Given the description of an element on the screen output the (x, y) to click on. 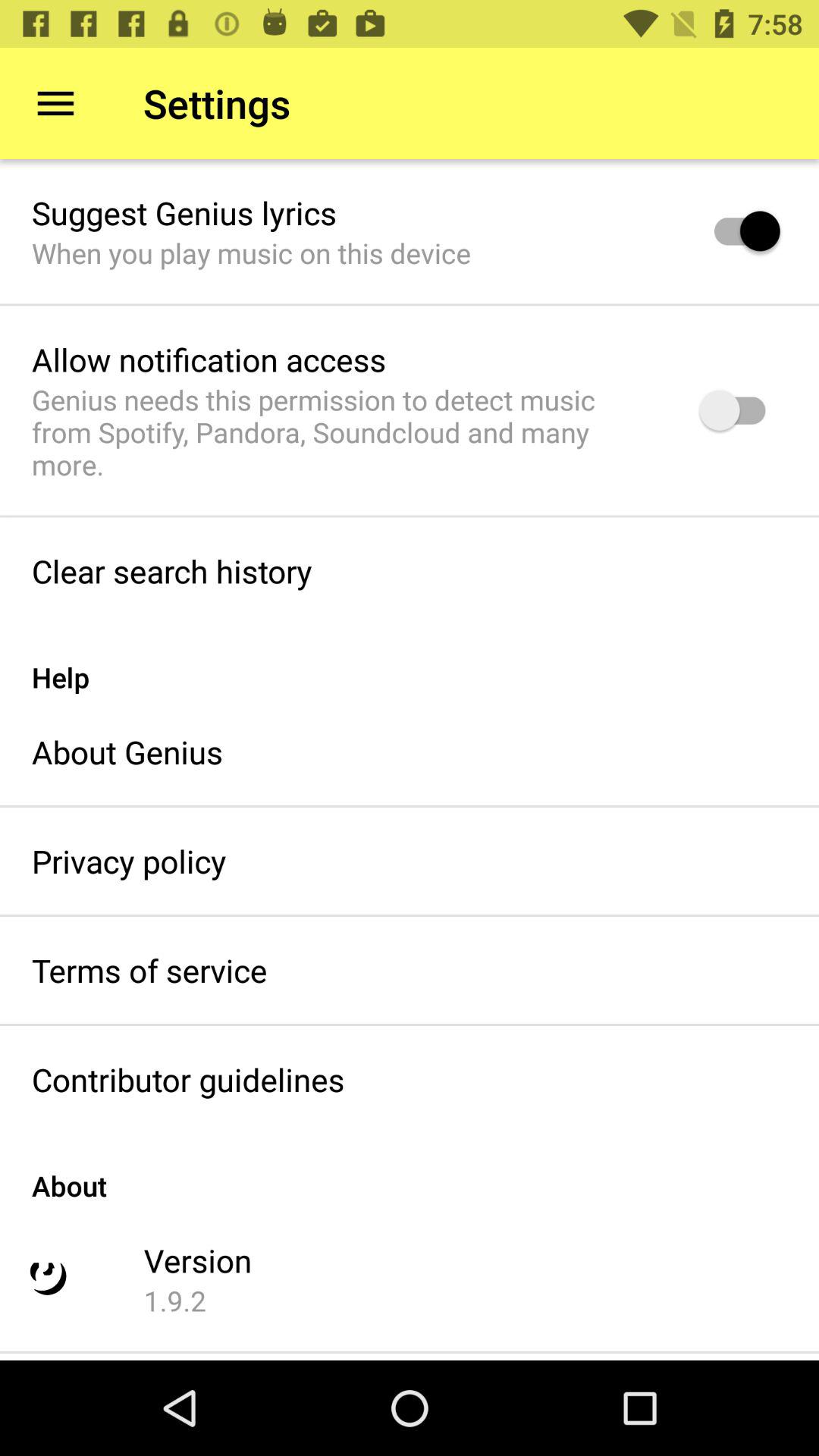
launch the privacy policy item (128, 860)
